Given the description of an element on the screen output the (x, y) to click on. 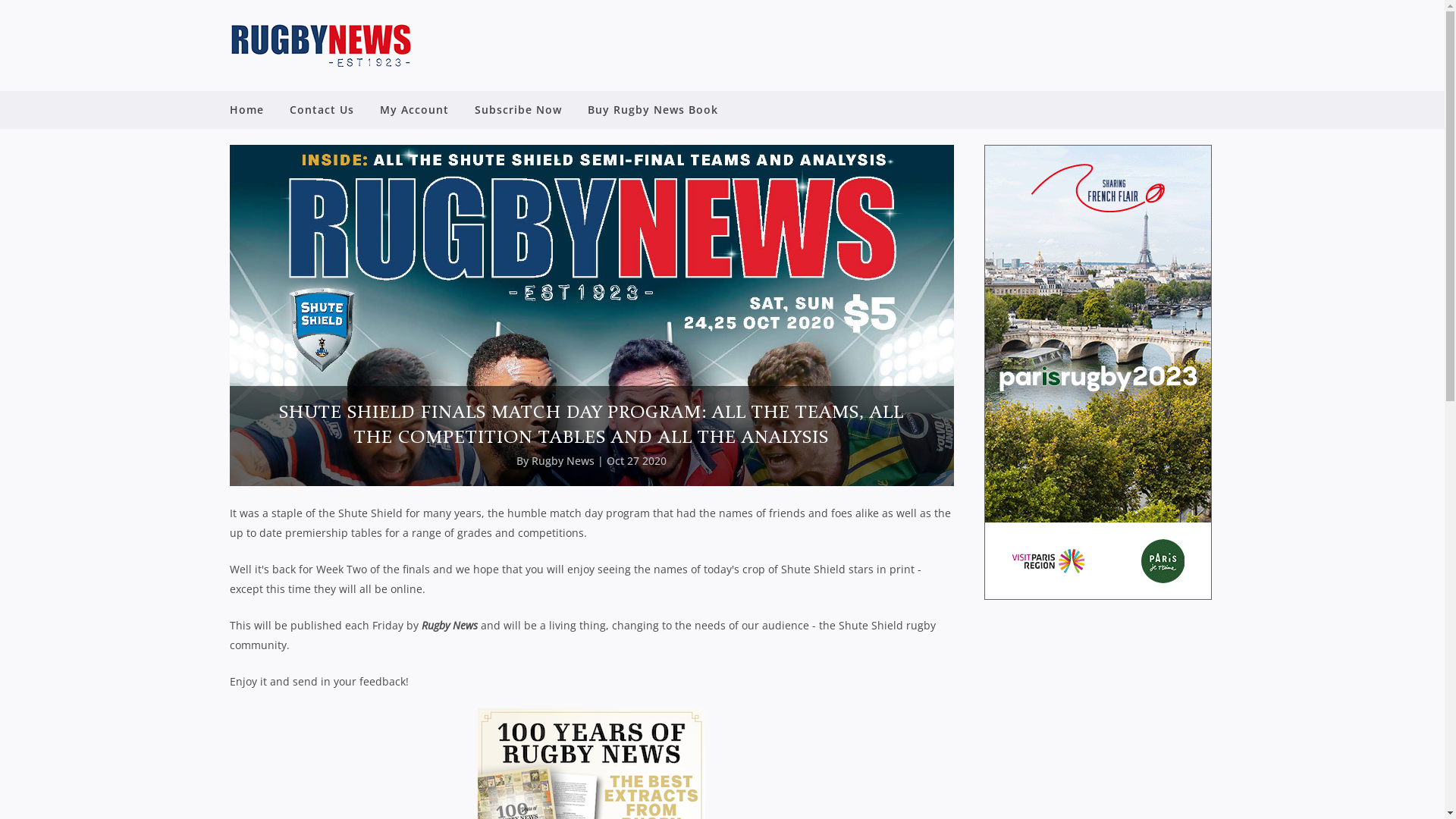
Rugby News Element type: text (562, 460)
Home Element type: text (252, 109)
Contact Us Element type: text (321, 109)
Subscribe Now Element type: text (517, 109)
Buy Rugby News Book Element type: text (652, 109)
My Account Element type: text (414, 109)
